Given the description of an element on the screen output the (x, y) to click on. 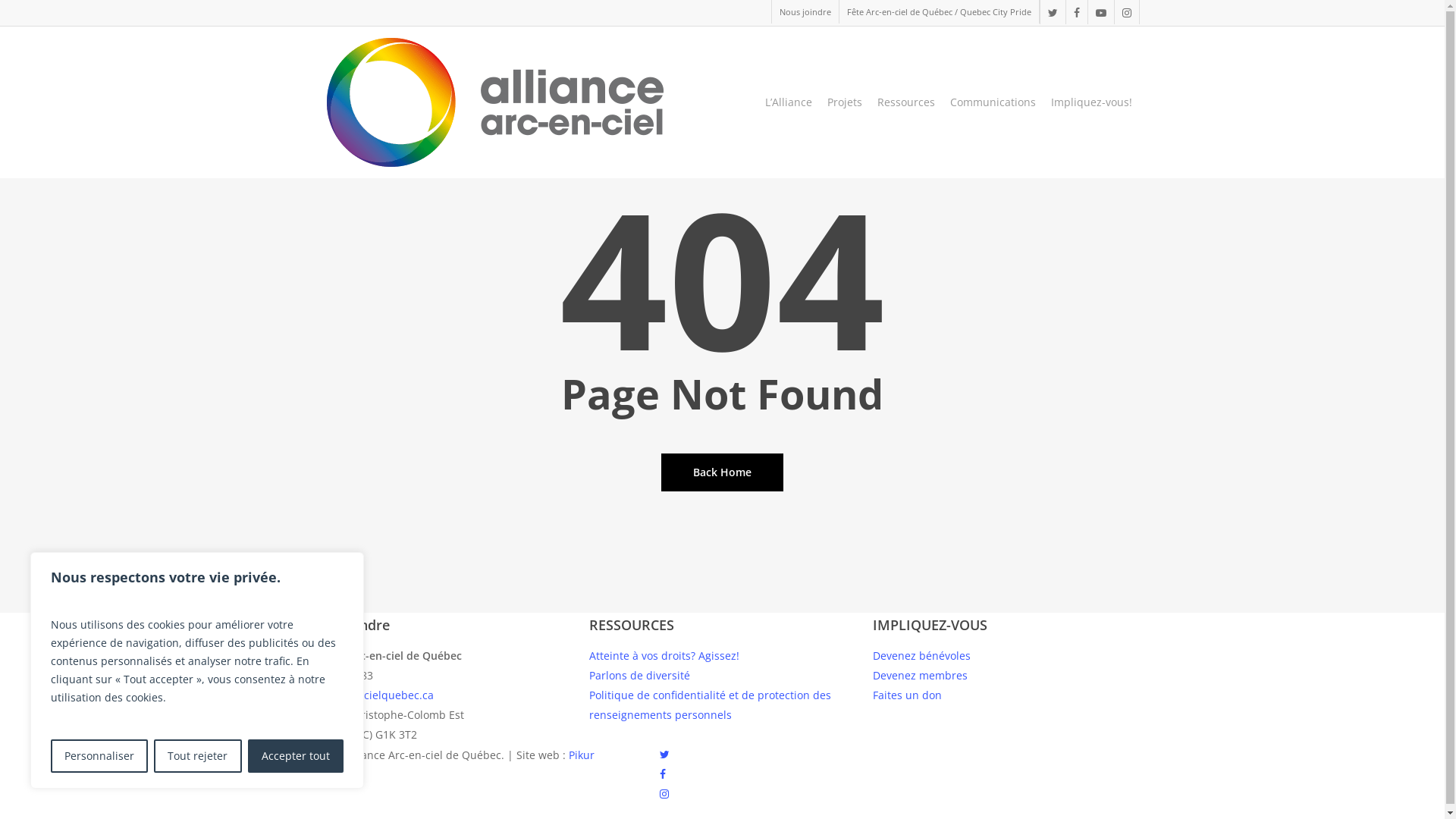
Personnaliser Element type: text (98, 755)
Tout rejeter Element type: text (197, 755)
Back Home Element type: text (722, 472)
info@arcencielquebec.ca Element type: text (368, 694)
Faites un don Element type: text (906, 694)
Devenez membres Element type: text (919, 675)
Nous joindre Element type: text (803, 11)
Pikur Element type: text (581, 754)
facebook Element type: text (662, 774)
facebook Element type: text (1075, 12)
Ressources Element type: text (905, 101)
Impliquez-vous! Element type: text (1091, 101)
Accepter tout Element type: text (295, 755)
twitter Element type: text (1051, 12)
Projets Element type: text (844, 101)
instagram Element type: text (663, 794)
youtube Element type: text (1100, 12)
instagram Element type: text (1125, 12)
Communications Element type: text (991, 101)
twitter Element type: text (664, 754)
